Given the description of an element on the screen output the (x, y) to click on. 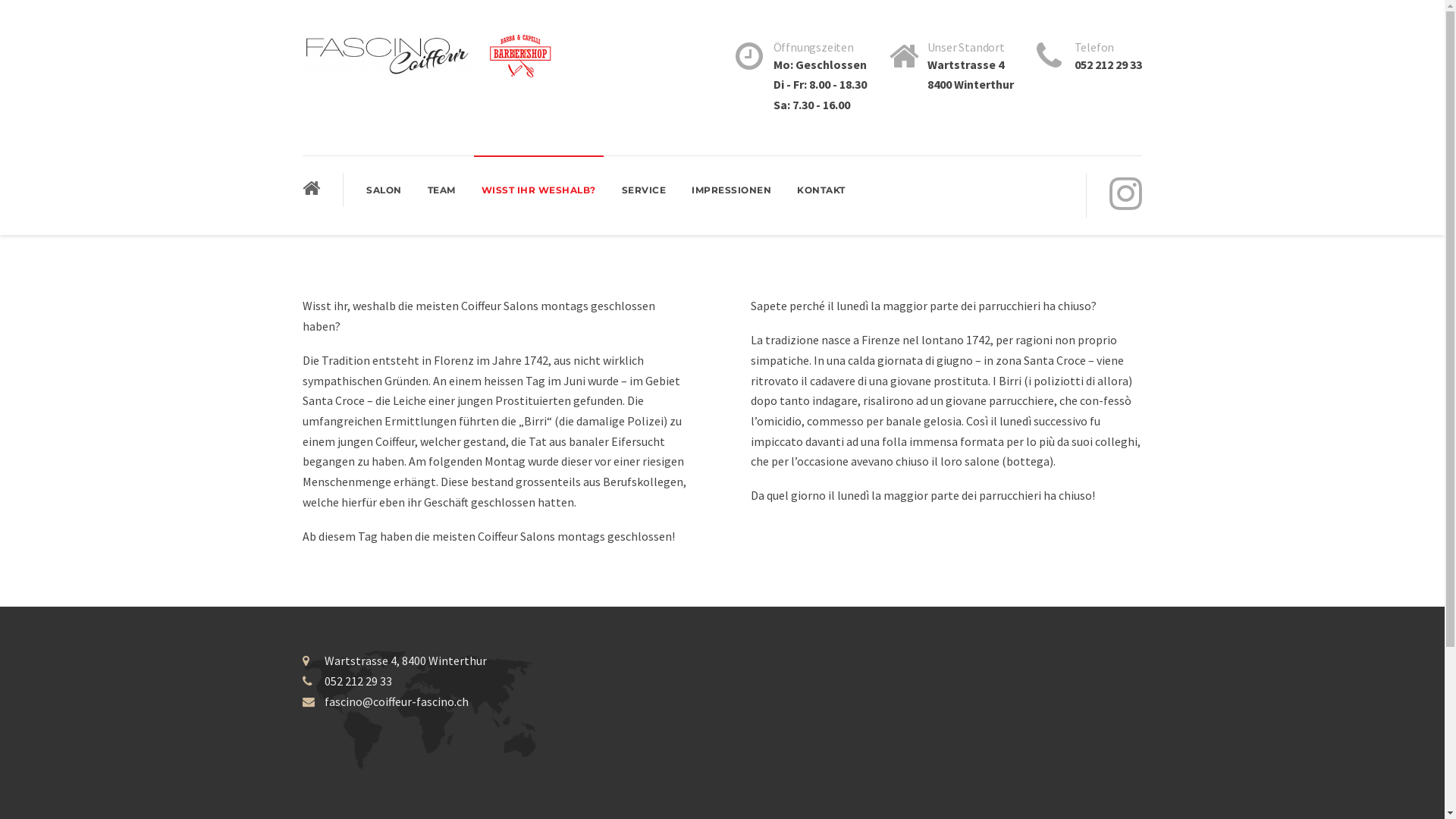
TEAM Element type: text (441, 190)
KONTAKT Element type: text (820, 190)
SERVICE Element type: text (643, 190)
IMPRESSIONEN Element type: text (731, 190)
WISST IHR WESHALB? Element type: text (538, 190)
SALON Element type: text (383, 190)
